Given the description of an element on the screen output the (x, y) to click on. 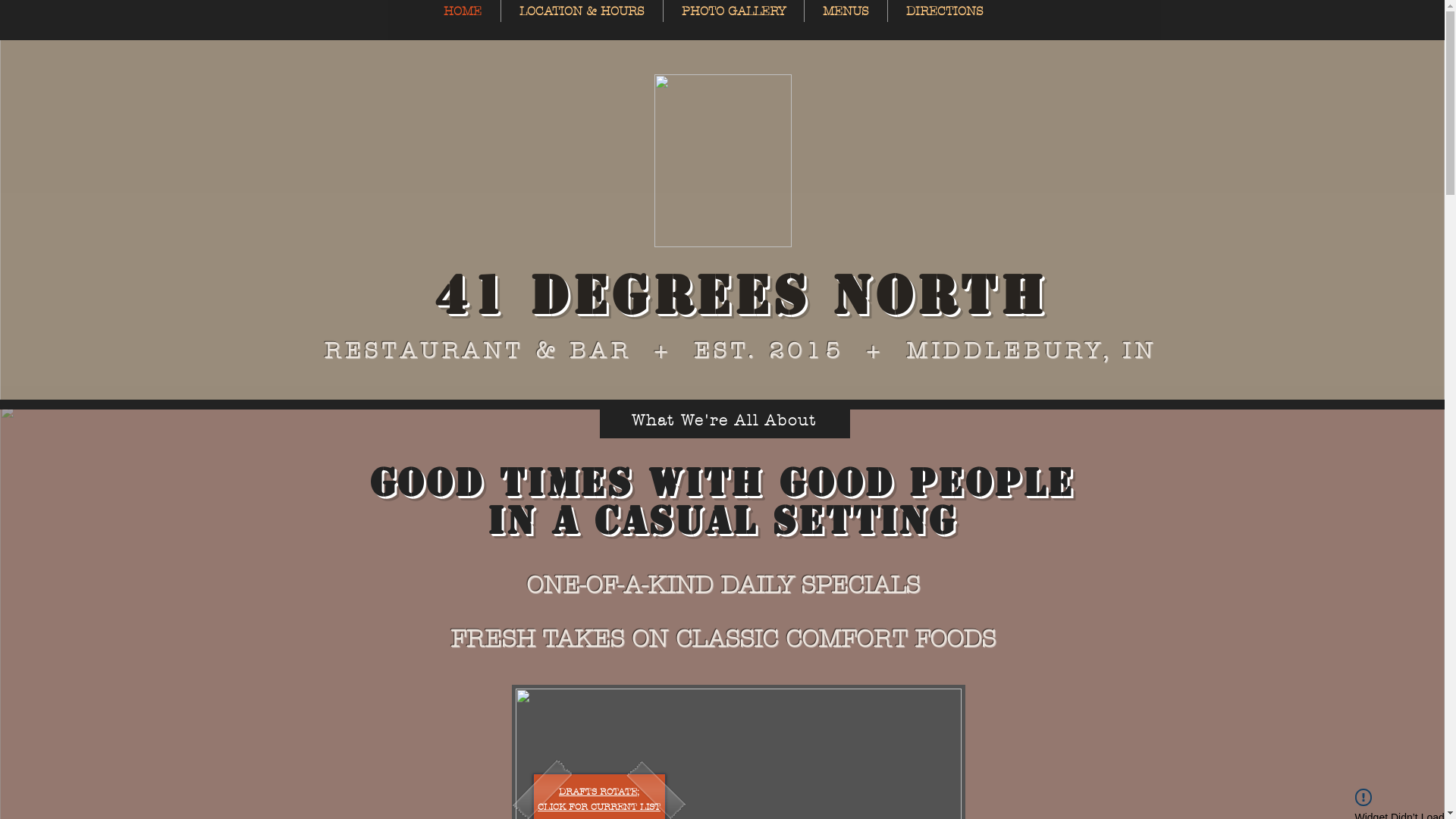
LOCATION & HOURS Element type: text (581, 10)
DRAFTS ROTATE; CLICK FOR CURRENT LIST Element type: text (598, 799)
MENUS Element type: text (844, 10)
DIRECTIONS Element type: text (944, 10)
HOME Element type: text (461, 10)
PHOTO GALLERY Element type: text (732, 10)
